Given the description of an element on the screen output the (x, y) to click on. 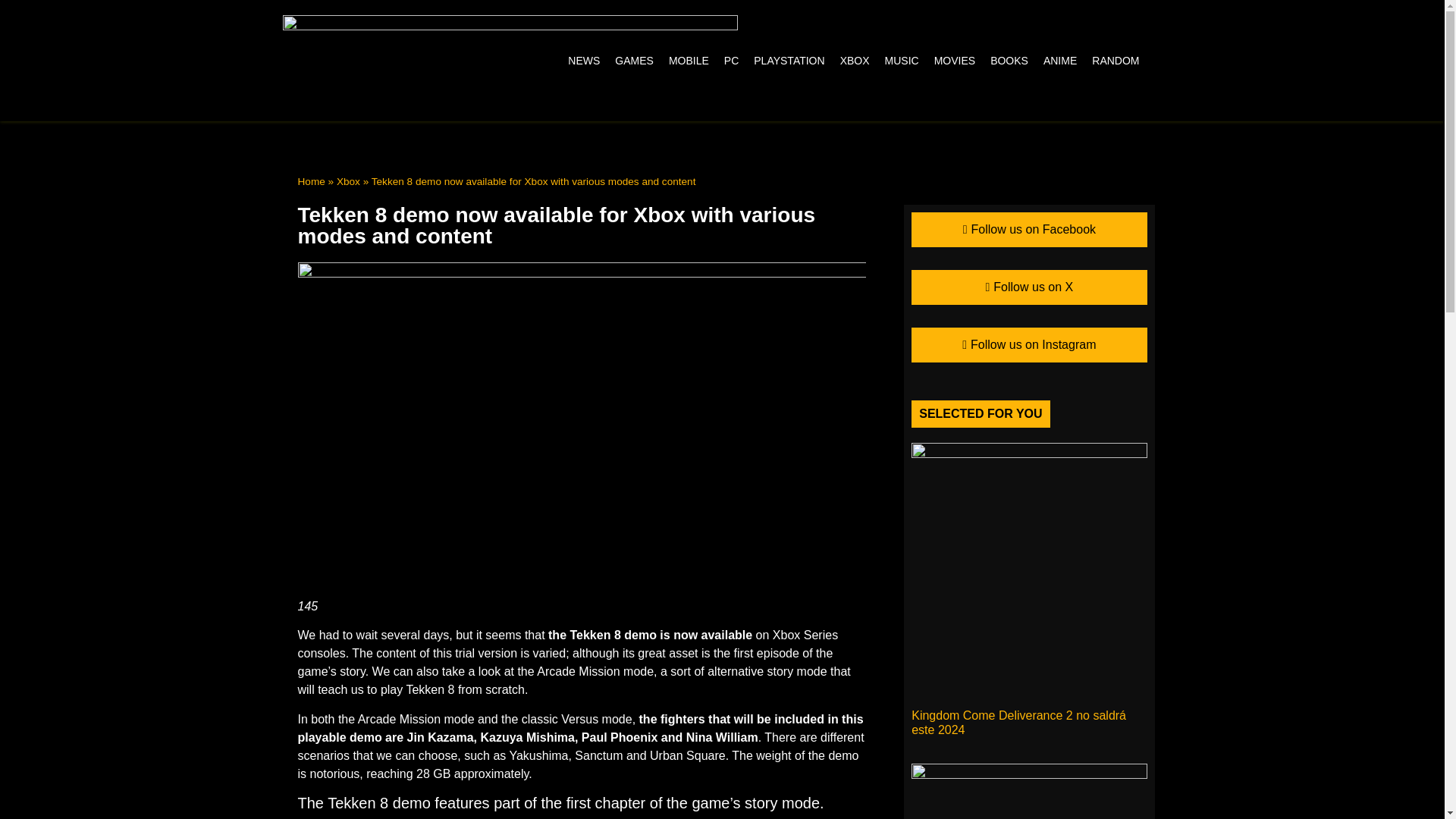
Follow us on X (1029, 287)
MOVIES (954, 60)
Follow us on Facebook (1029, 229)
PLAYSTATION (788, 60)
MOBILE (688, 60)
Home (310, 181)
MUSIC (901, 60)
Follow us on Instagram (1029, 344)
GAMES (634, 60)
BOOKS (1008, 60)
